Given the description of an element on the screen output the (x, y) to click on. 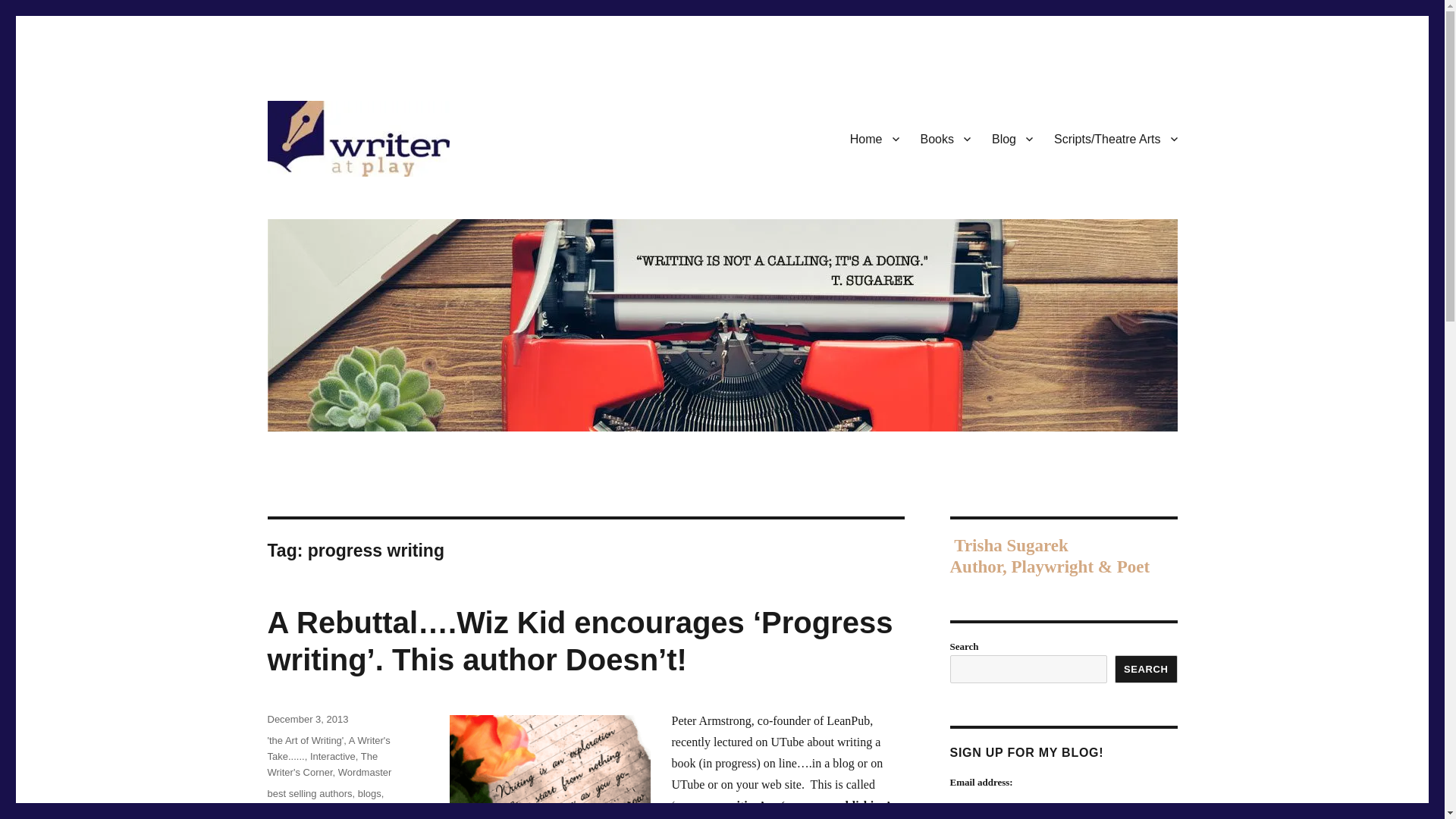
Books (945, 138)
Home (875, 138)
Blog (1012, 138)
